Given the description of an element on the screen output the (x, y) to click on. 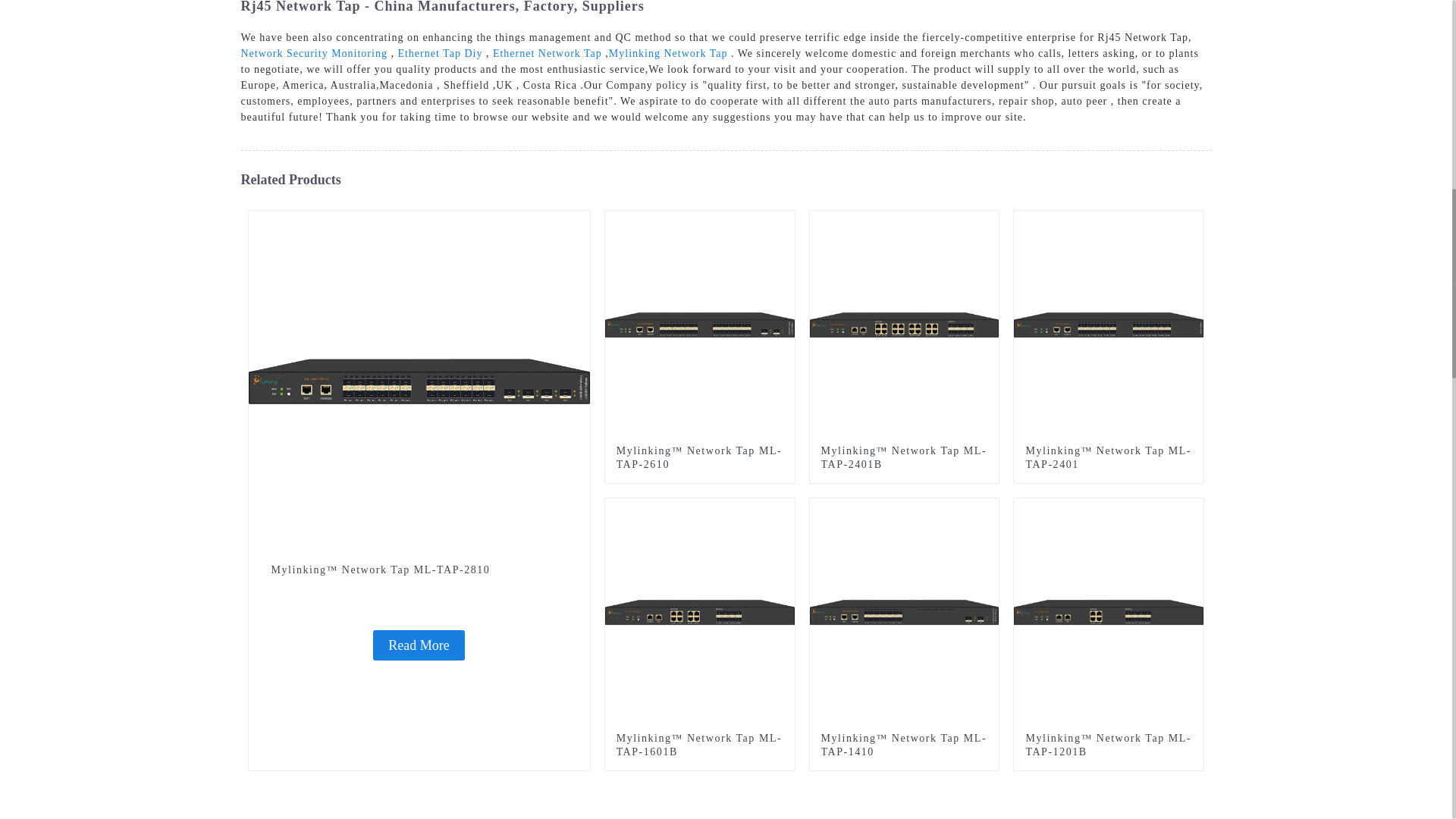
Mylinking Network Tap (668, 52)
Ethernet Tap Diy (439, 52)
Network Tap ML-TAP-2401B (986, 221)
Network Tap ML-TAP-2610 (782, 221)
Network Tap ML-TAP-1601B (782, 508)
Network Tap ML-TAP-2810 (578, 221)
Ethernet Network Tap (547, 52)
Network Security Monitoring (314, 52)
Network Tap ML-TAP-2401 (1192, 221)
